Given the description of an element on the screen output the (x, y) to click on. 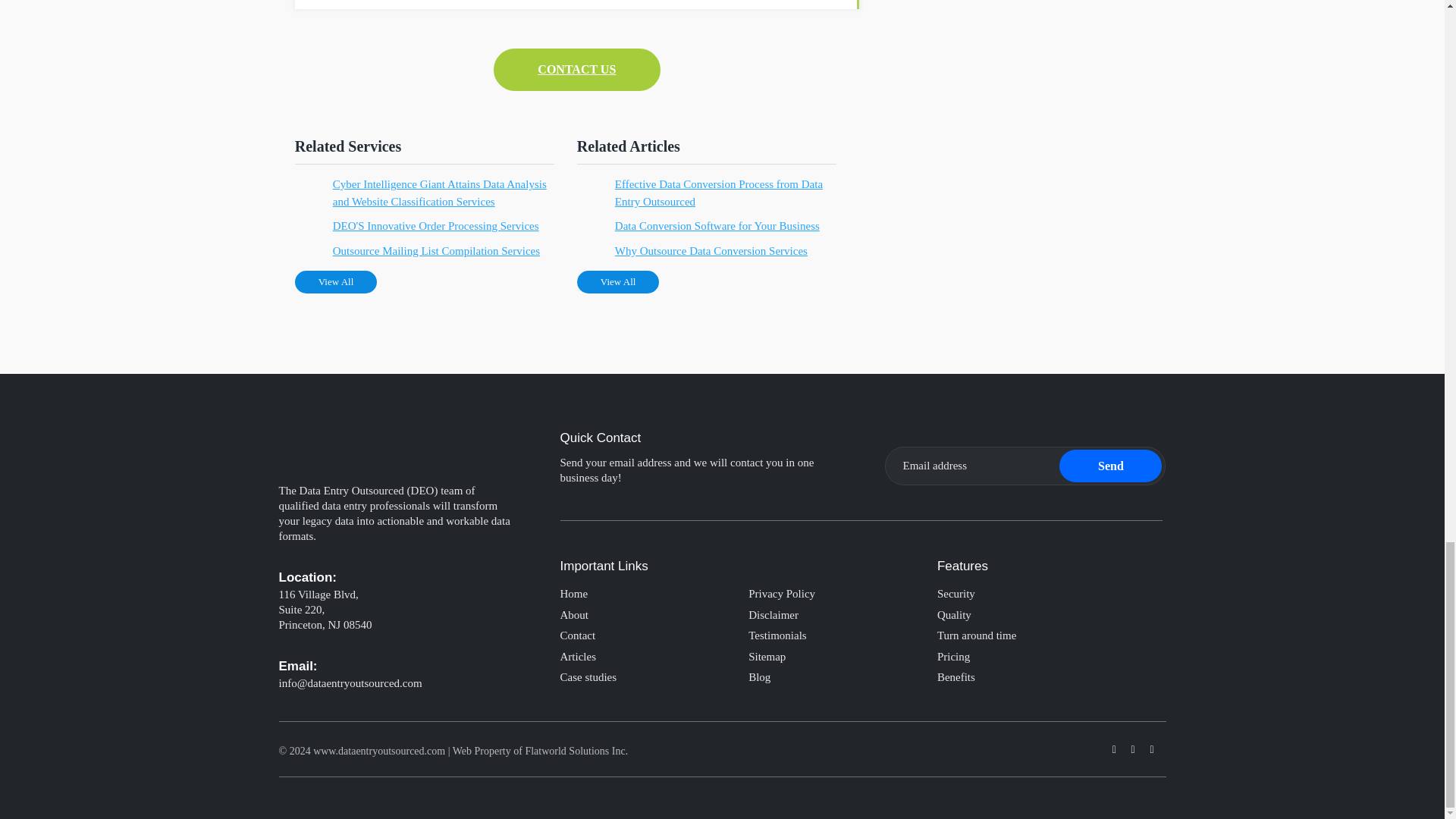
Data Entry Outsourced Footer Logo (355, 435)
Contact Us (577, 69)
